Given the description of an element on the screen output the (x, y) to click on. 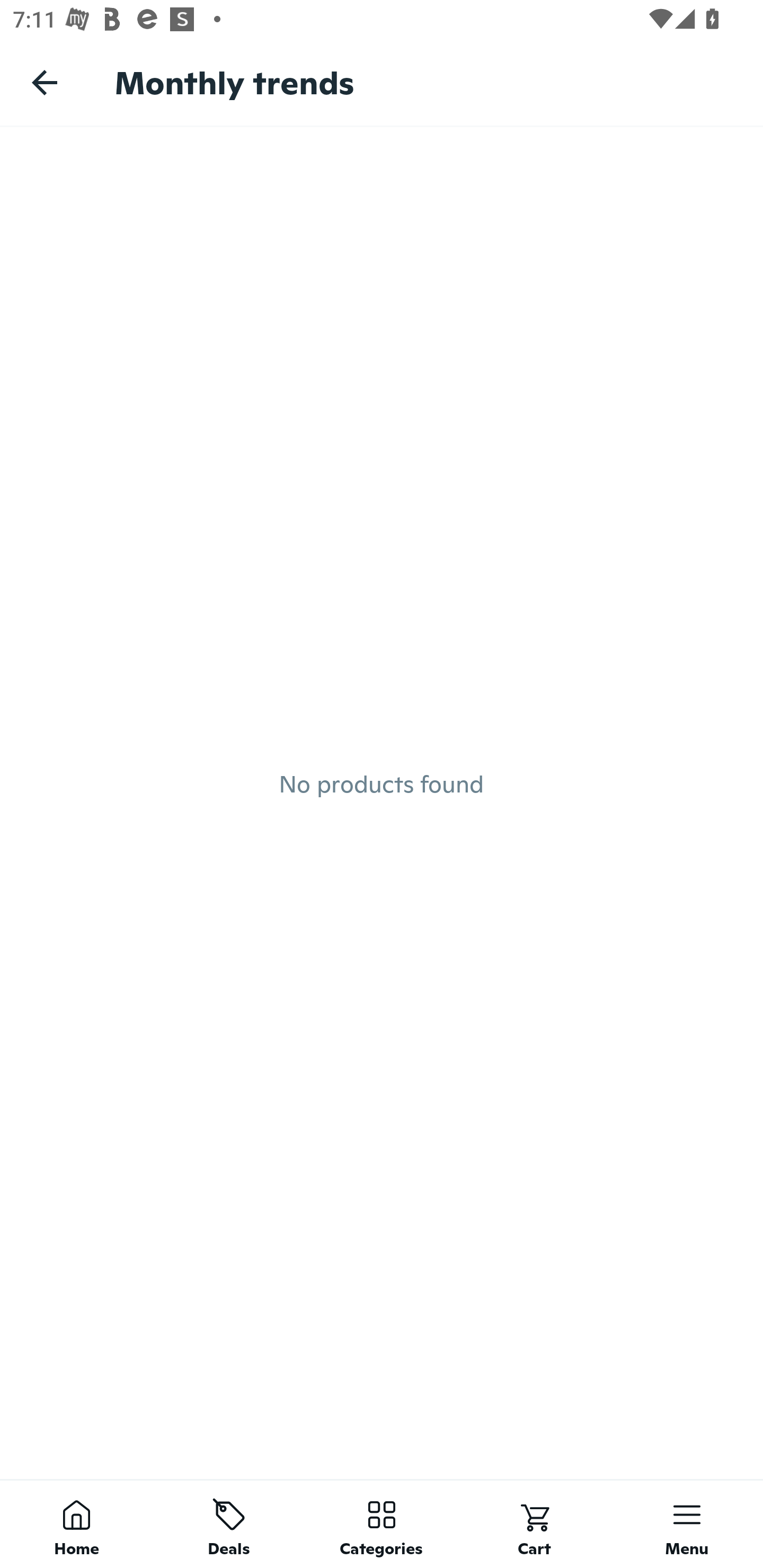
Navigate up (44, 82)
Home (76, 1523)
Deals (228, 1523)
Categories (381, 1523)
Cart (533, 1523)
Menu (686, 1523)
